Given the description of an element on the screen output the (x, y) to click on. 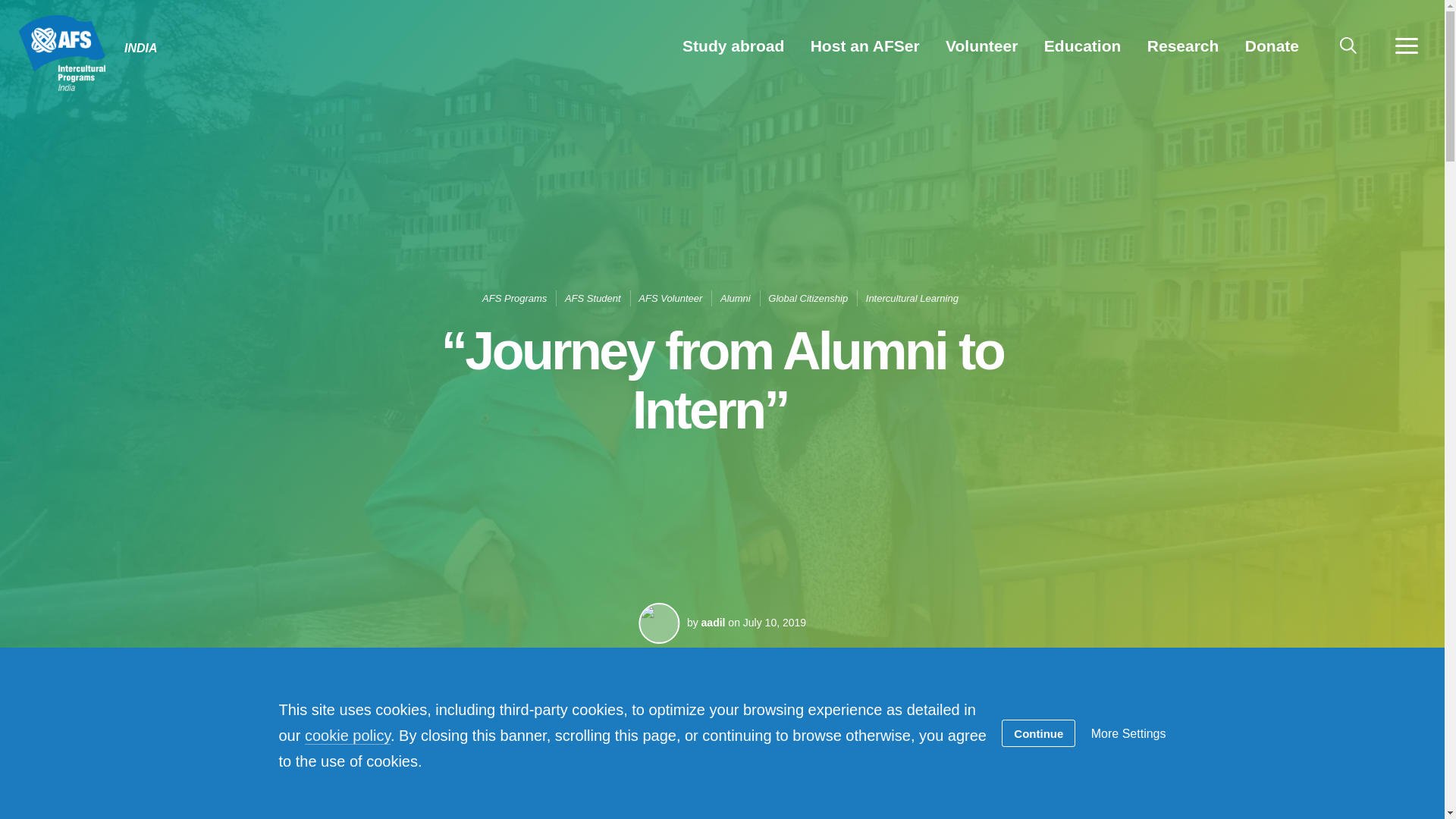
AFS Volunteer (670, 297)
Study abroad (732, 45)
MORE (1406, 45)
Volunteer (981, 45)
Donate (1271, 45)
Education (1082, 45)
India (65, 51)
SEARCH (1347, 45)
Host an AFSer (865, 45)
Research (1182, 45)
